Given the description of an element on the screen output the (x, y) to click on. 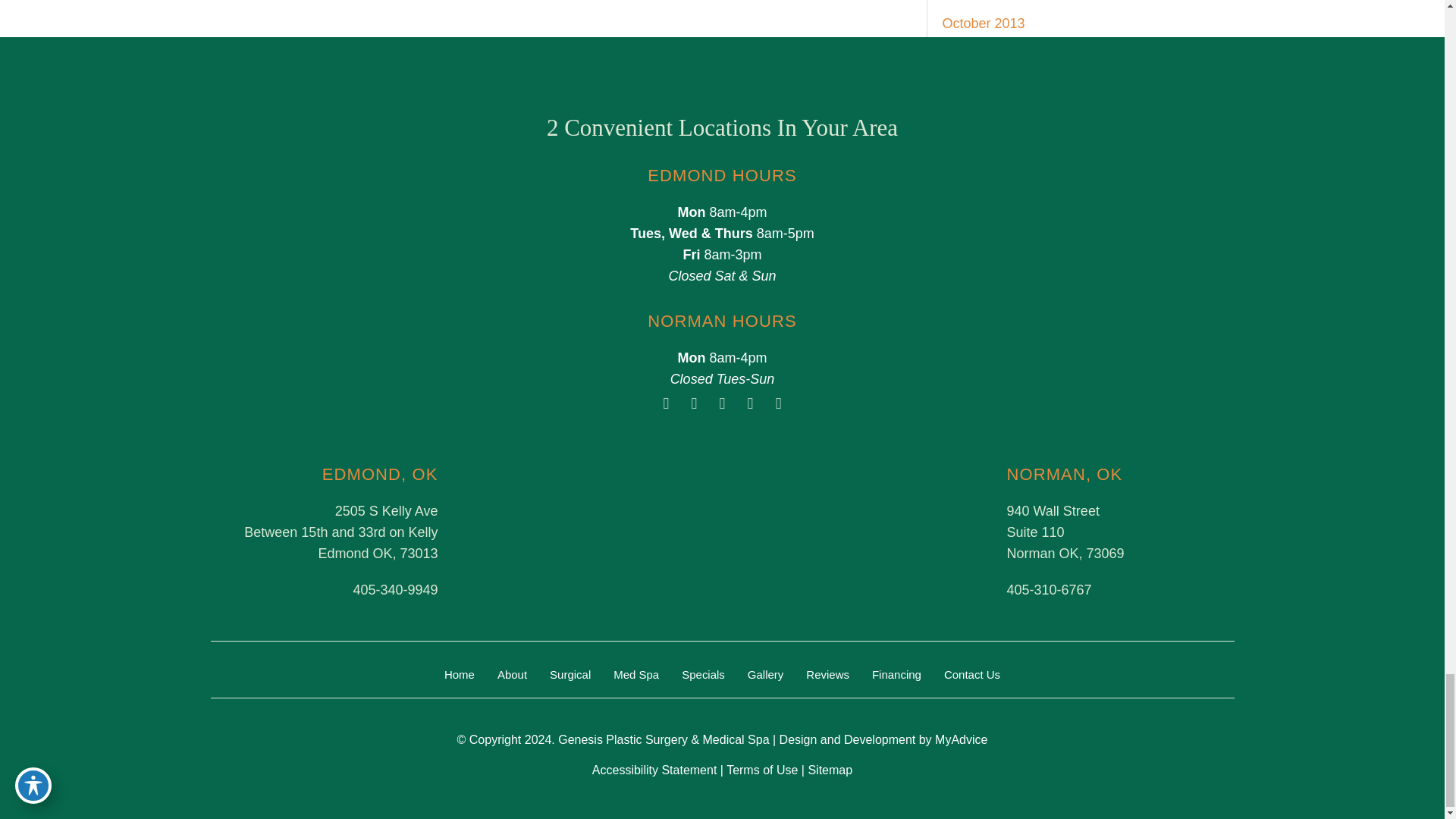
edmondoffice (590, 531)
normanoffice (852, 531)
